Given the description of an element on the screen output the (x, y) to click on. 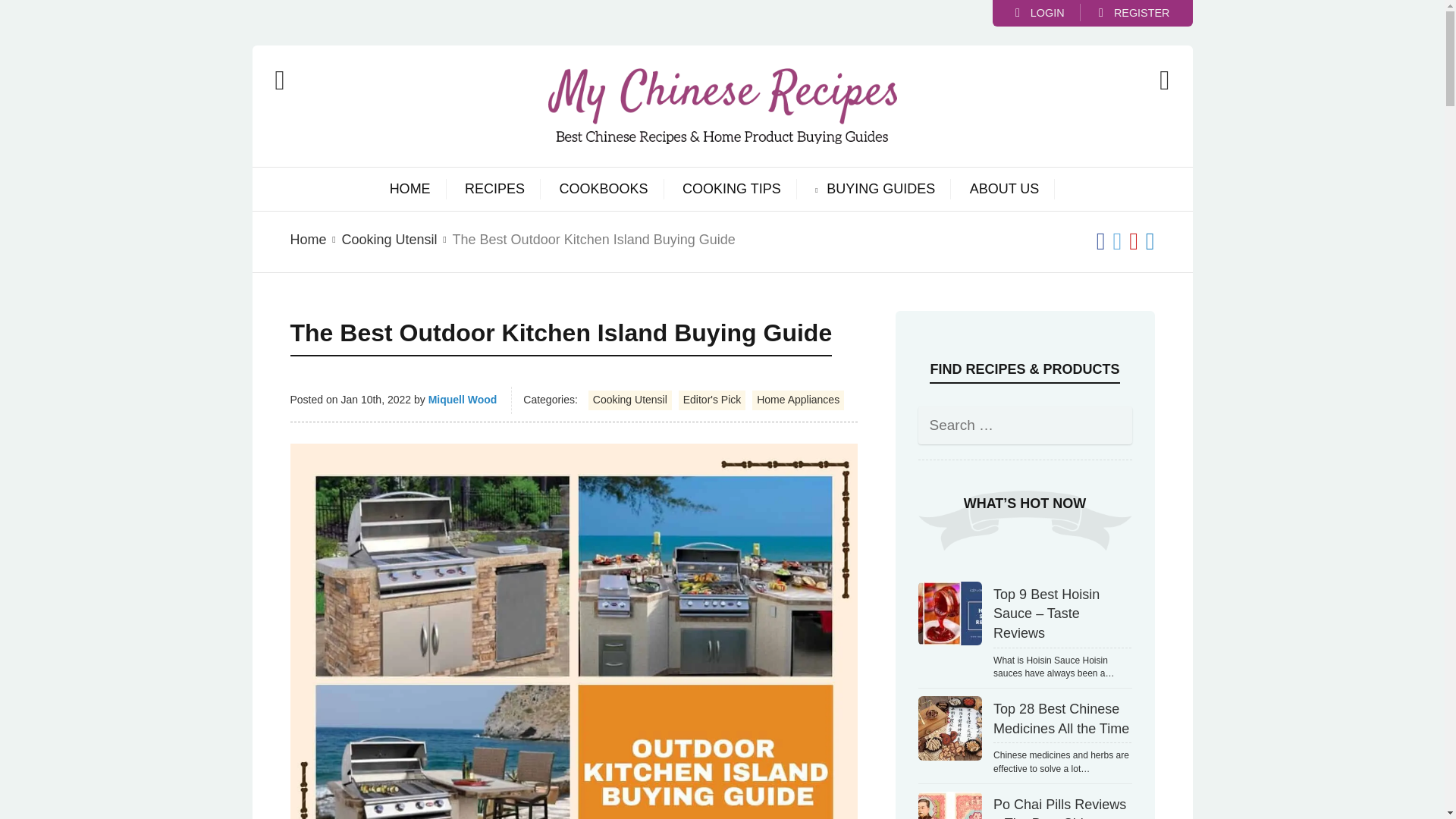
COOKBOOKS (603, 189)
Miquell Wood (462, 399)
COOKING TIPS (731, 189)
HOME (410, 189)
Editor's Pick (711, 400)
Home (307, 240)
LOGIN (1039, 12)
View all posts in Cooking Utensil (390, 240)
Home Appliances (798, 400)
Cooking Utensil (390, 240)
